Given the description of an element on the screen output the (x, y) to click on. 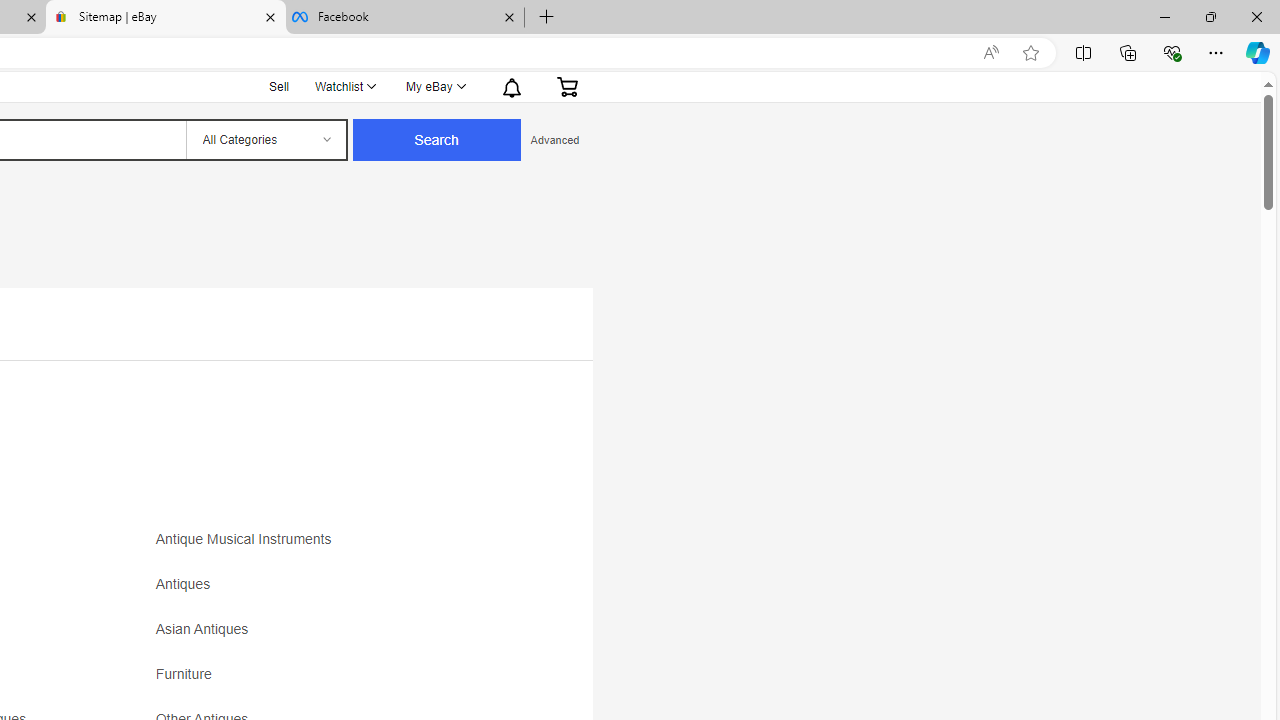
Furniture (187, 673)
Sell (279, 84)
Sell (279, 86)
Furniture (332, 681)
Select a category for search (265, 139)
Watchlist (344, 86)
Asian Antiques (332, 636)
Advanced Search (554, 139)
My eBay (434, 86)
Expand Cart (567, 86)
Your shopping cart (567, 86)
Asian Antiques (206, 629)
